Given the description of an element on the screen output the (x, y) to click on. 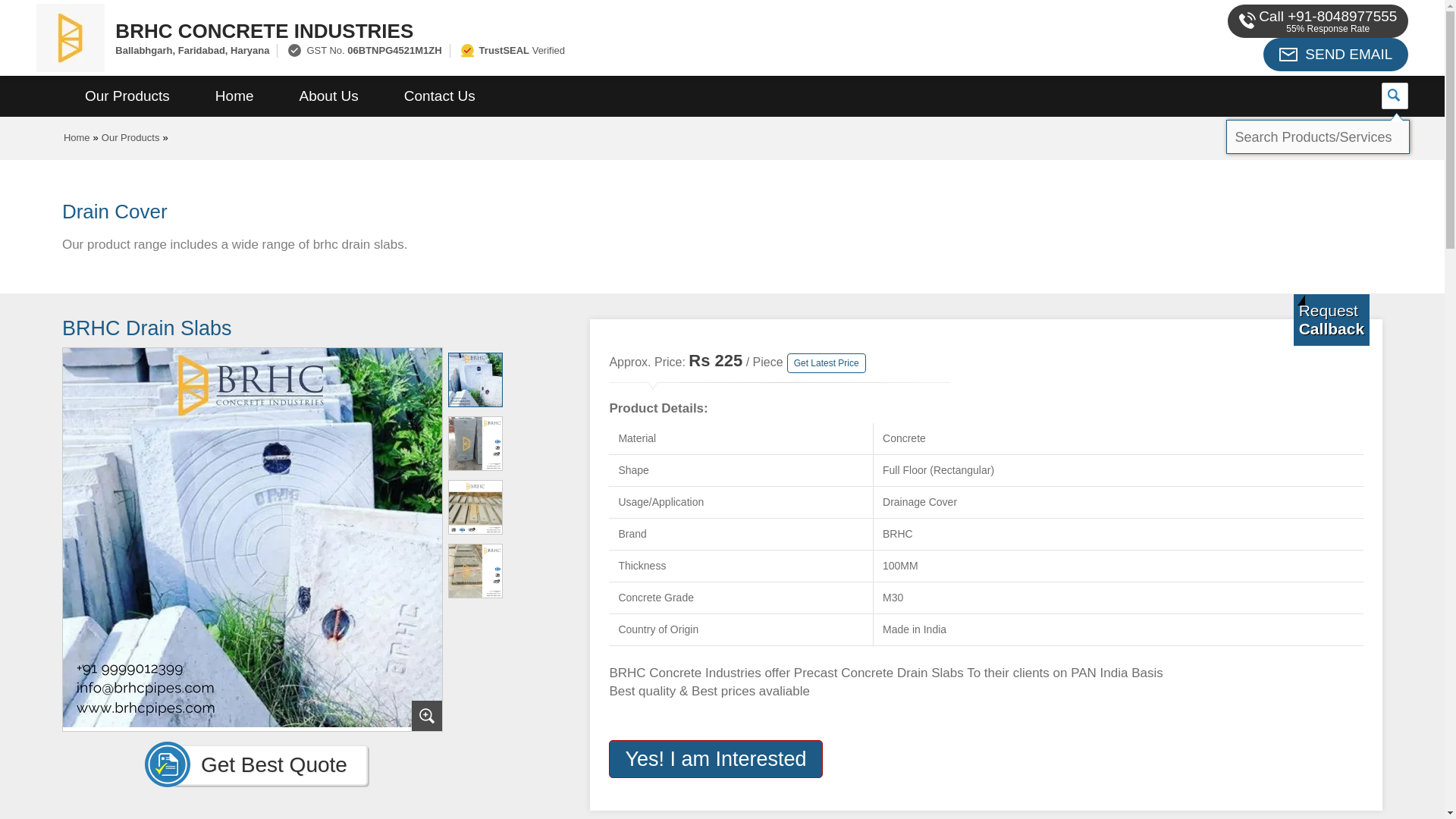
BRHC CONCRETE INDUSTRIES (552, 31)
Our Products (127, 96)
Home (77, 137)
Home (234, 96)
Our Products (130, 137)
Contact Us (439, 96)
Get a Call from us (1332, 319)
About Us (328, 96)
